Given the description of an element on the screen output the (x, y) to click on. 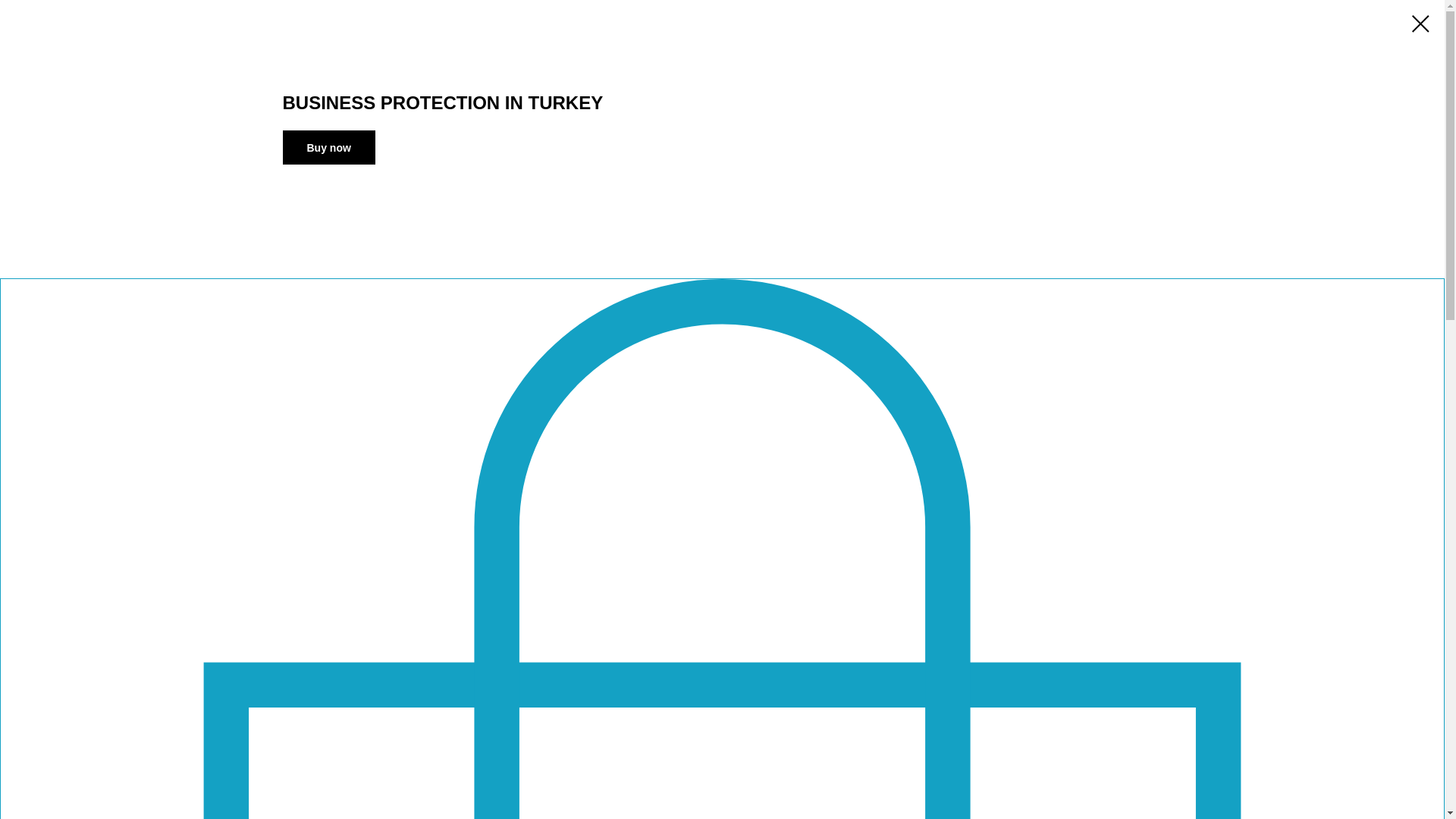
Buy now Element type: text (328, 147)
